Given the description of an element on the screen output the (x, y) to click on. 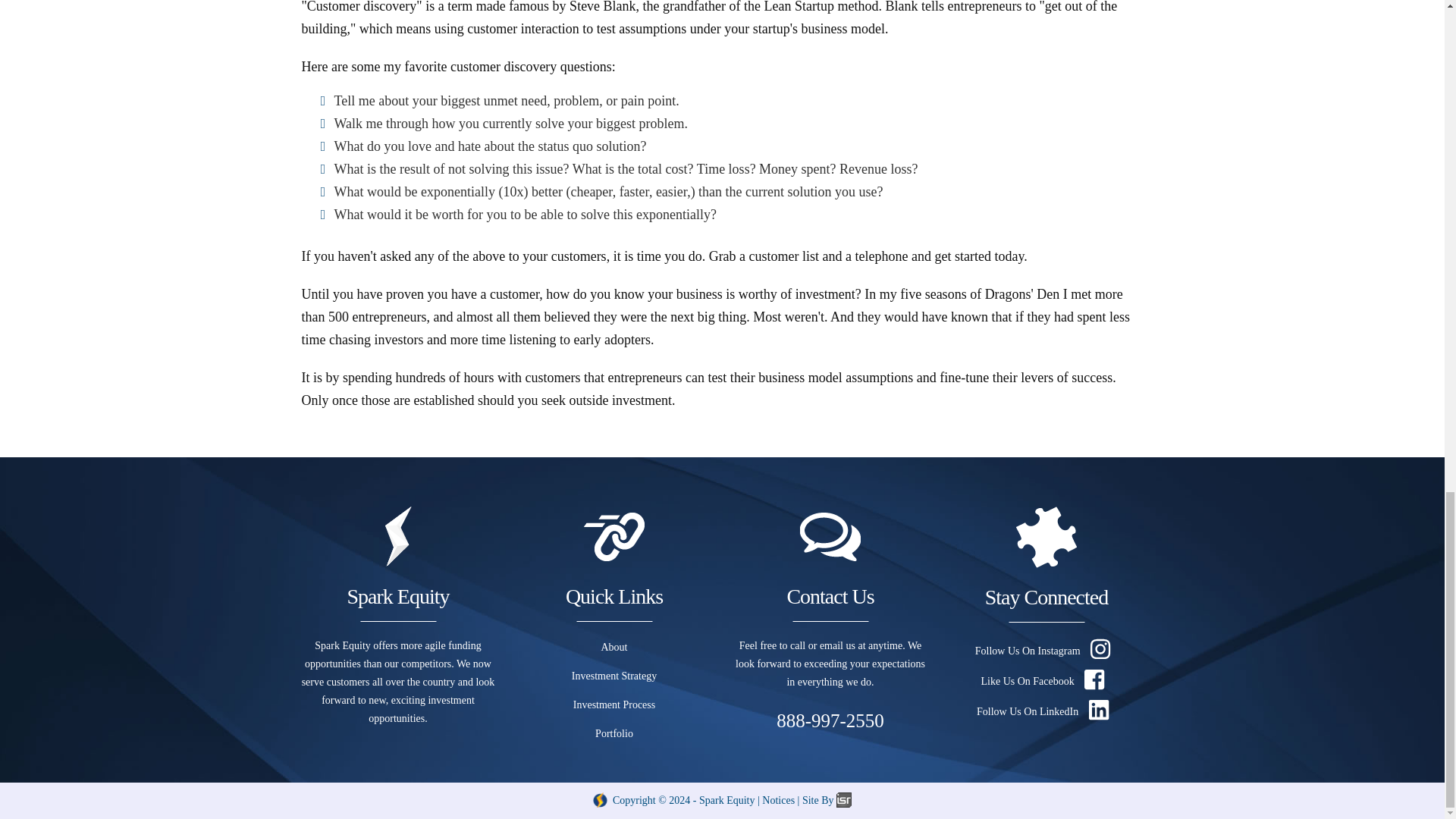
Site By (826, 799)
Investment Process (614, 704)
888-997-2550 (829, 720)
About (613, 646)
Portfolio (614, 733)
Investment Strategy (613, 675)
Notices (777, 799)
Spark Equity (726, 799)
